Given the description of an element on the screen output the (x, y) to click on. 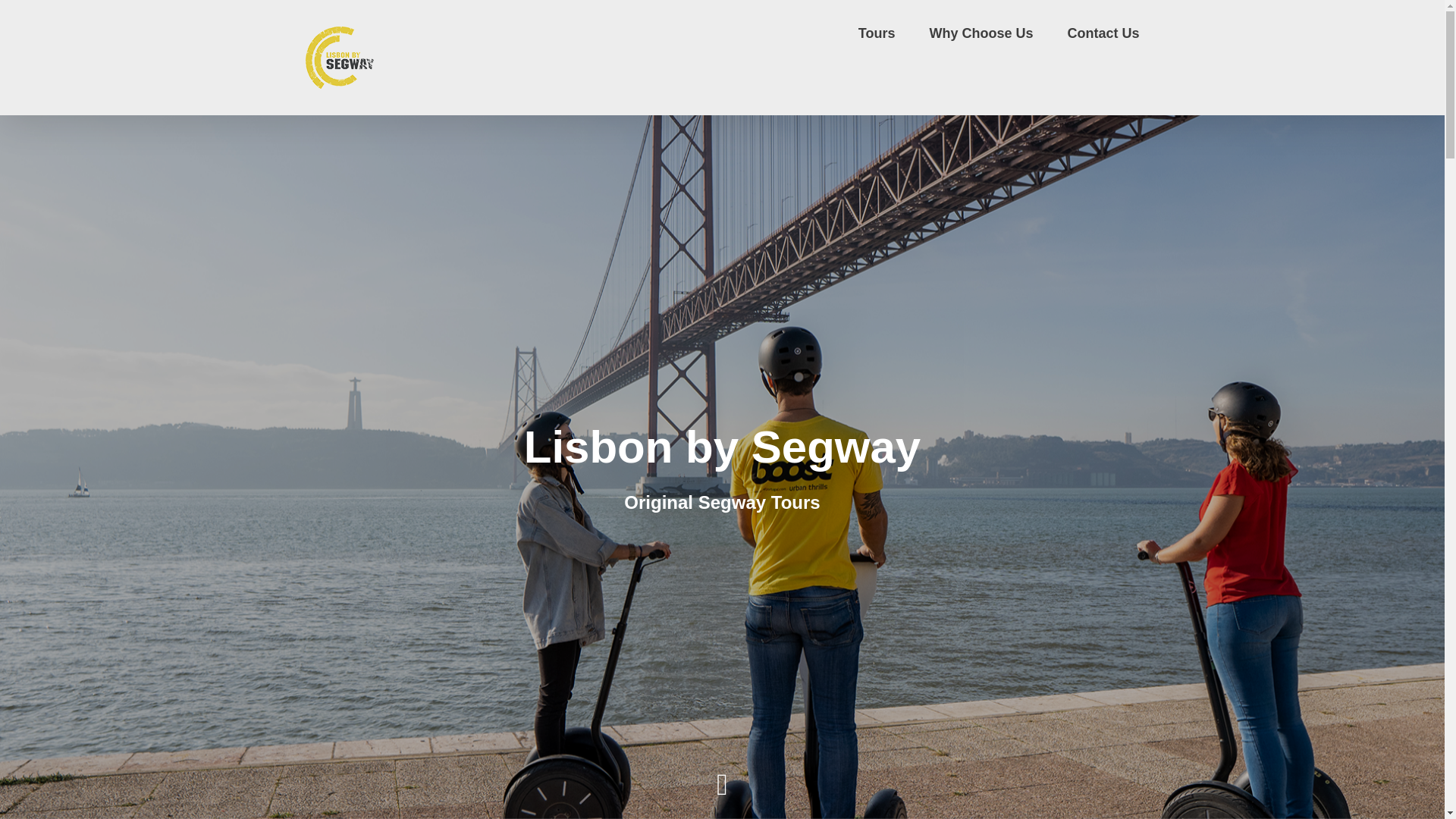
Contact Us (1102, 31)
Why Choose Us (980, 31)
